Given the description of an element on the screen output the (x, y) to click on. 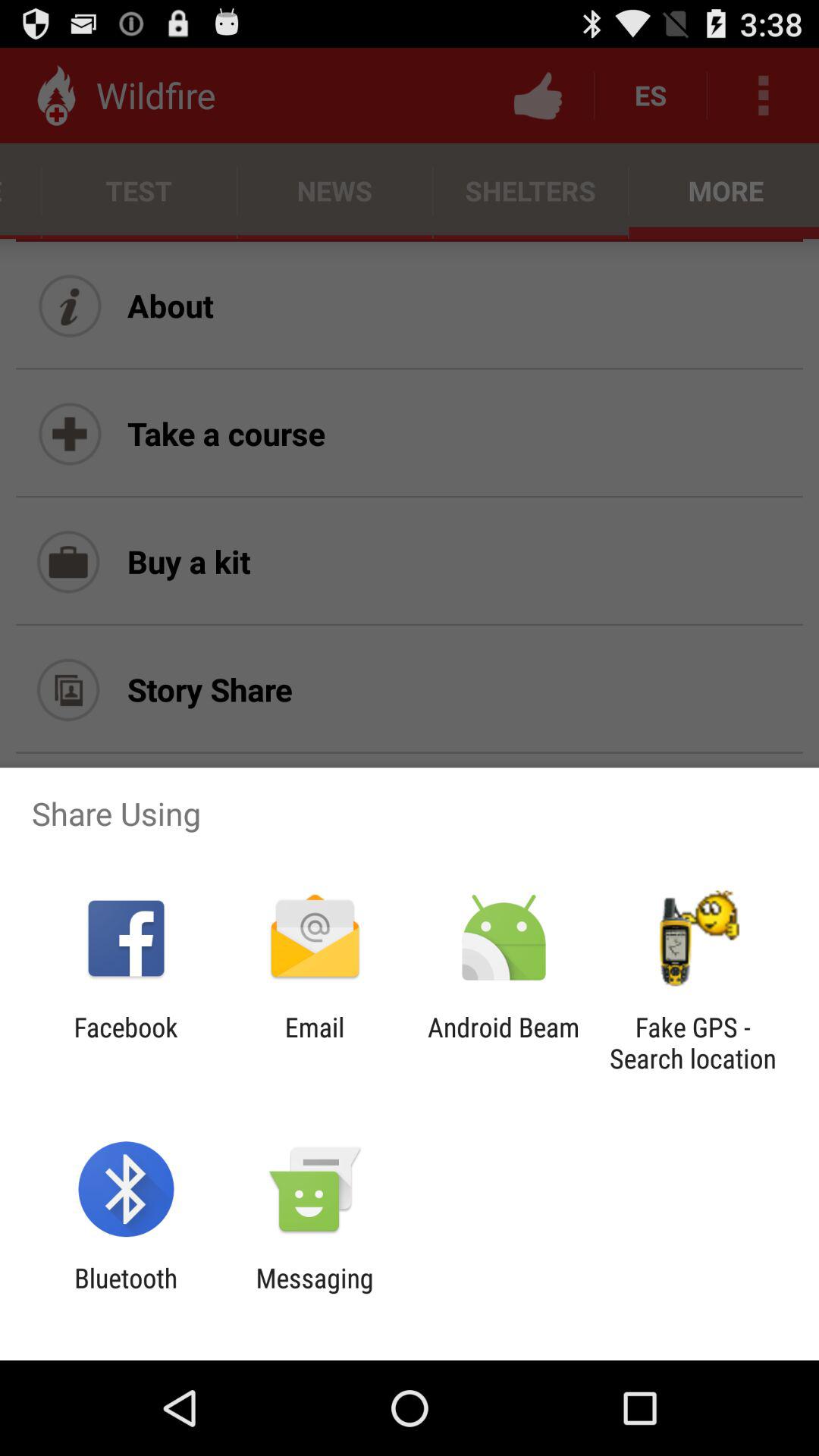
tap the app next to the android beam item (314, 1042)
